Given the description of an element on the screen output the (x, y) to click on. 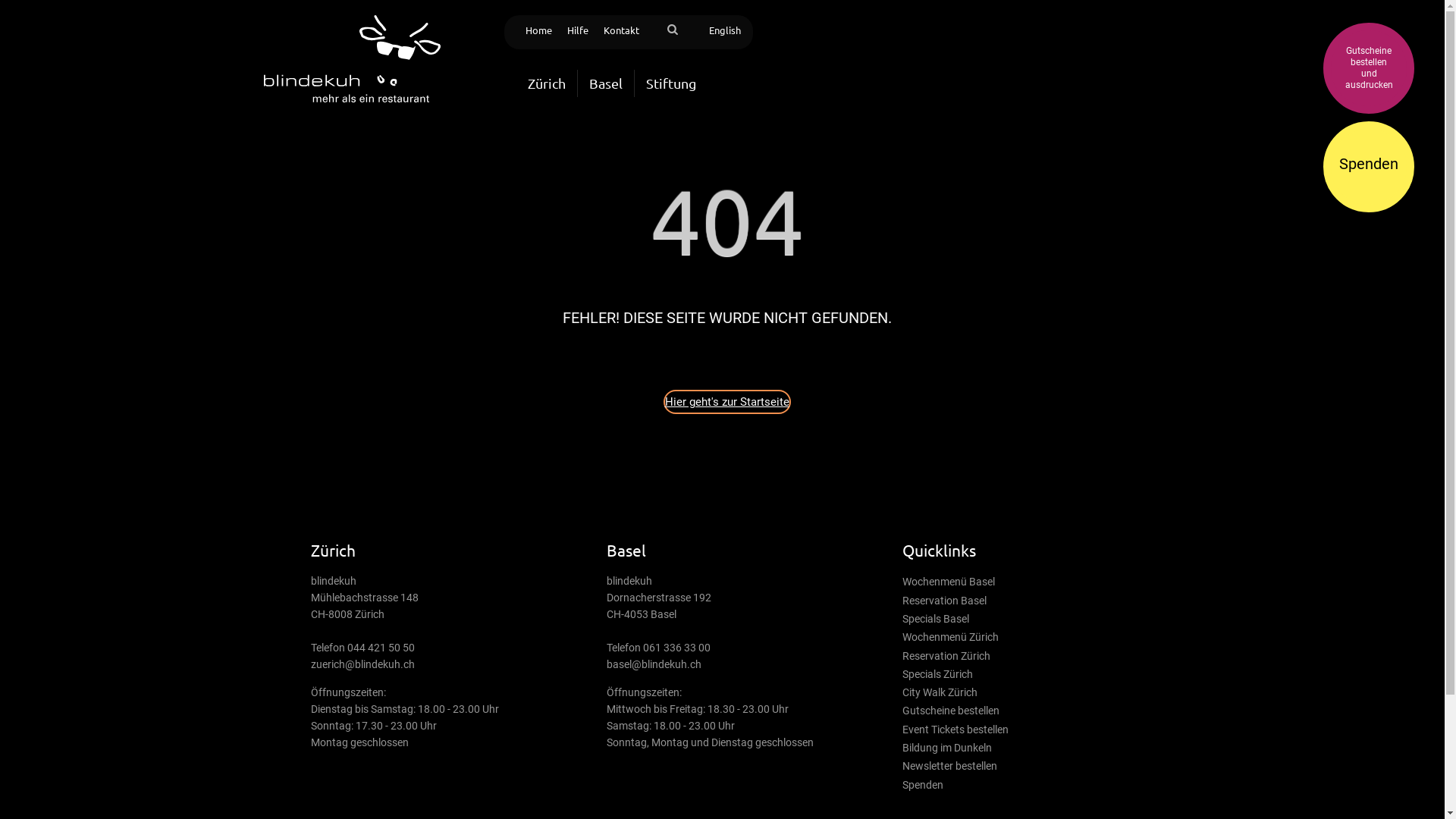
Home Element type: text (537, 29)
  Element type: text (630, 14)
Basel Element type: text (605, 83)
Reservation Basel Element type: text (944, 600)
Kontakt Element type: text (621, 29)
  Element type: text (653, 24)
Hilfe Element type: text (577, 29)
Stiftung Element type: text (669, 83)
English Element type: text (724, 29)
Event Tickets bestellen Element type: text (955, 729)
Hier geht's zur Startseite Element type: text (726, 401)
Specials Basel Element type: text (935, 618)
Bildung im Dunkeln Element type: text (946, 747)
Gutscheine bestellen Element type: text (950, 710)
Spenden Element type: text (922, 784)
Newsletter bestellen Element type: text (949, 765)
